Given the description of an element on the screen output the (x, y) to click on. 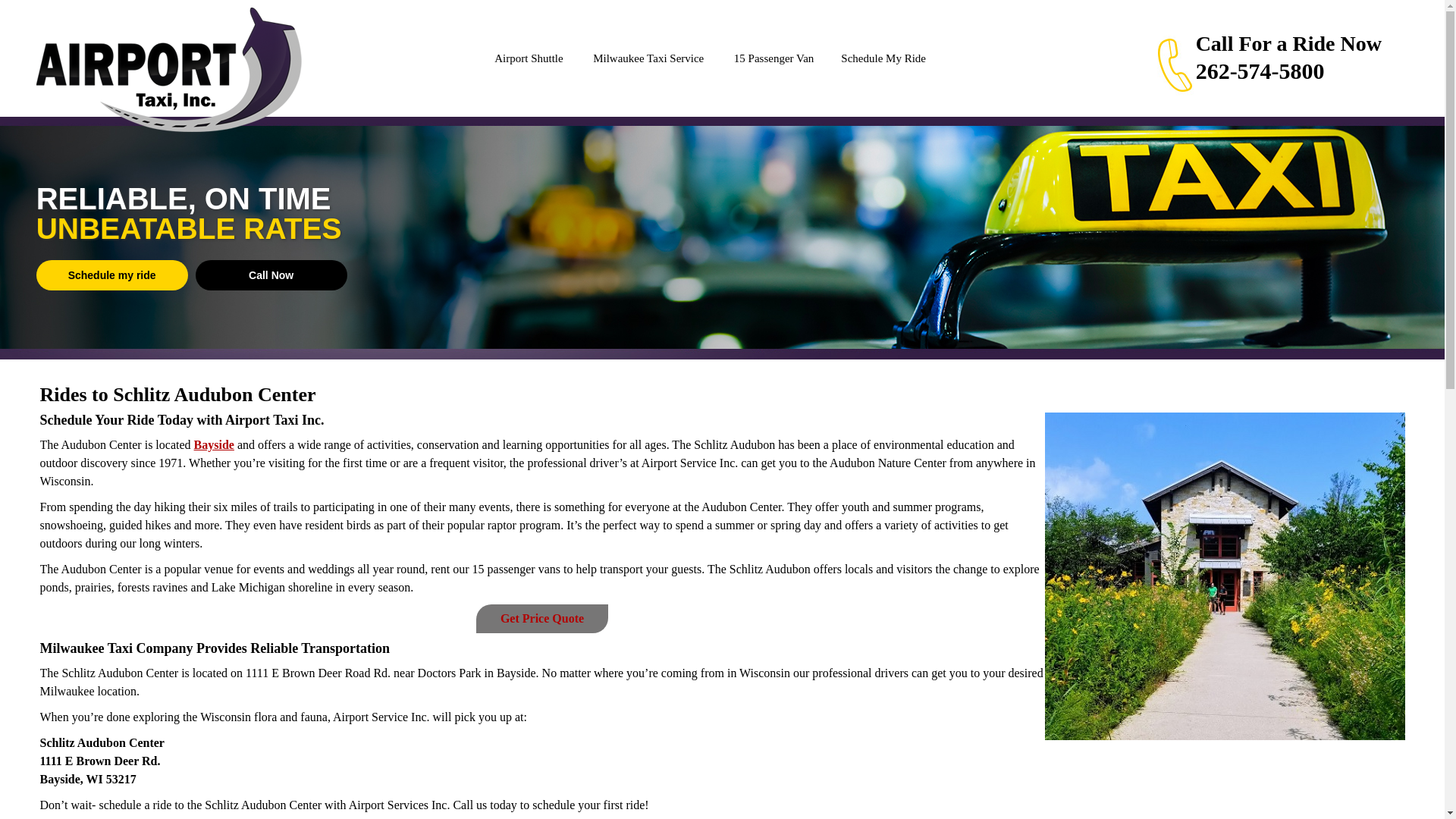
Airport Taxi Inc. (168, 69)
